Given the description of an element on the screen output the (x, y) to click on. 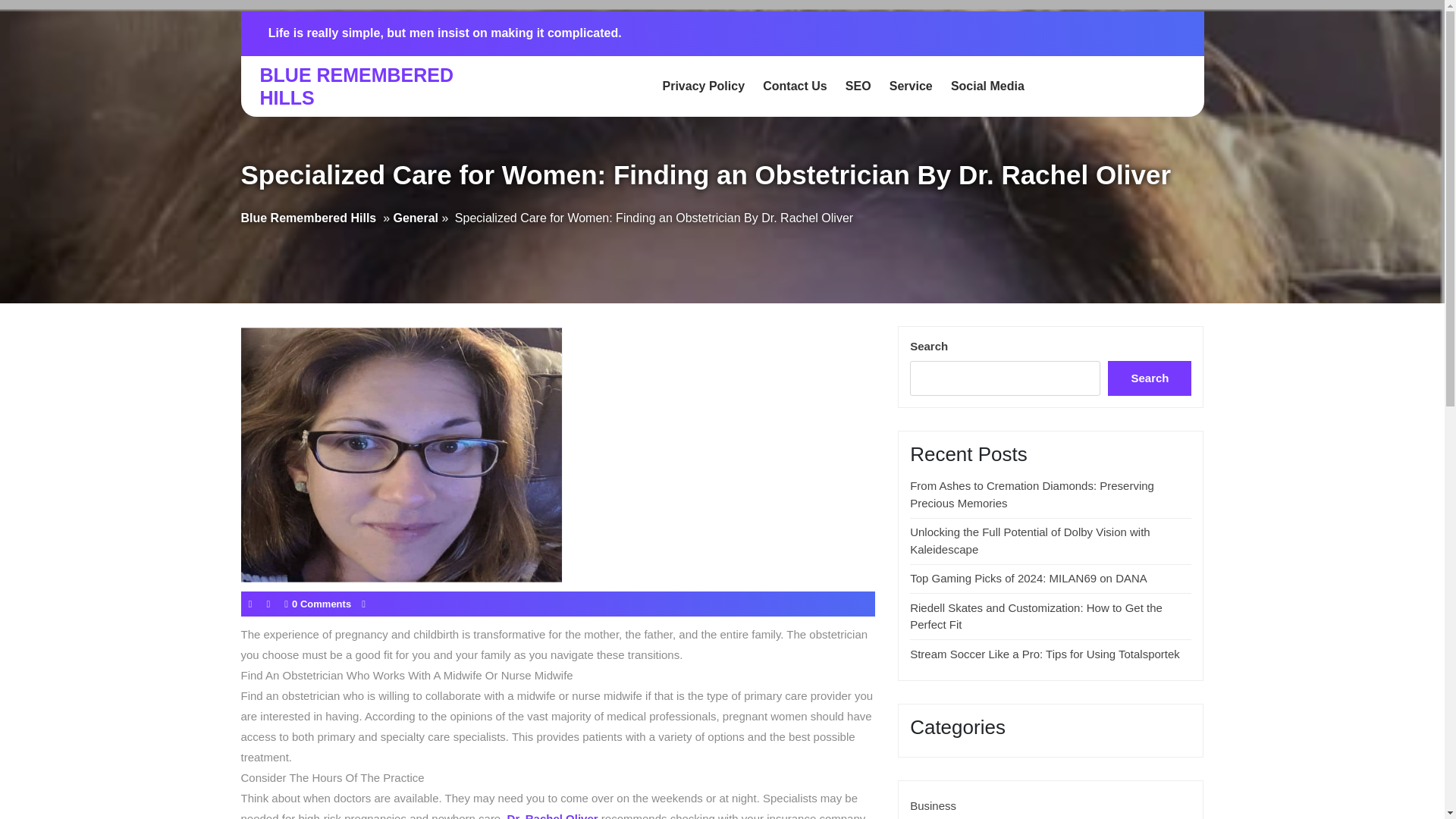
Riedell Skates and Customization: How to Get the Perfect Fit (1035, 616)
Social Media (987, 86)
BLUE REMEMBERED HILLS (355, 86)
Stream Soccer Like a Pro: Tips for Using Totalsportek (1044, 653)
Business (933, 805)
Search (1149, 378)
Privacy Policy (703, 86)
Top Gaming Picks of 2024: MILAN69 on DANA (1028, 577)
Contact Us (794, 86)
General (415, 218)
Dr. Rachel Oliver (552, 815)
SEO (858, 86)
Blue Remembered Hills (309, 218)
